Given the description of an element on the screen output the (x, y) to click on. 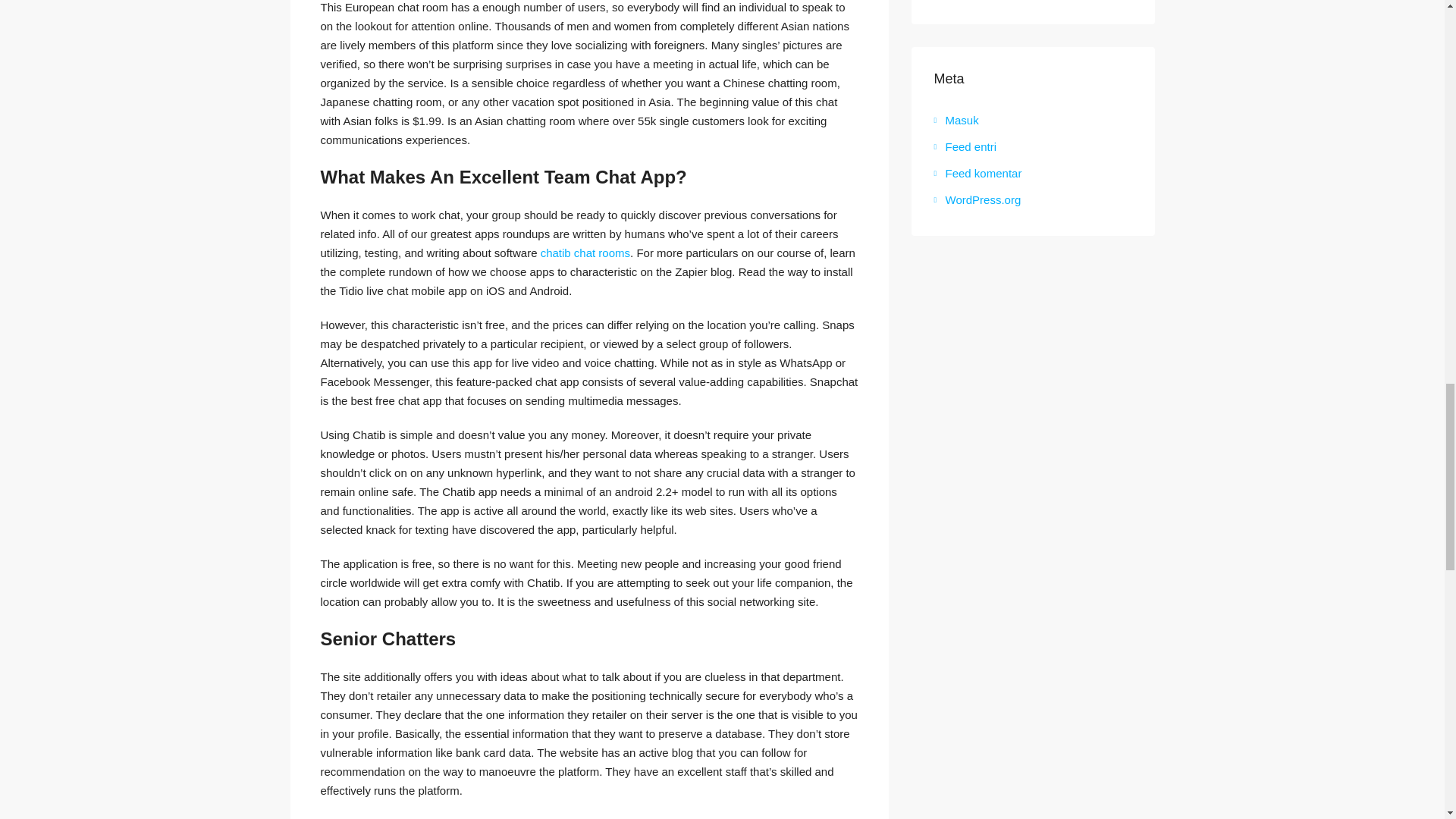
chatib chat rooms (585, 252)
